Given the description of an element on the screen output the (x, y) to click on. 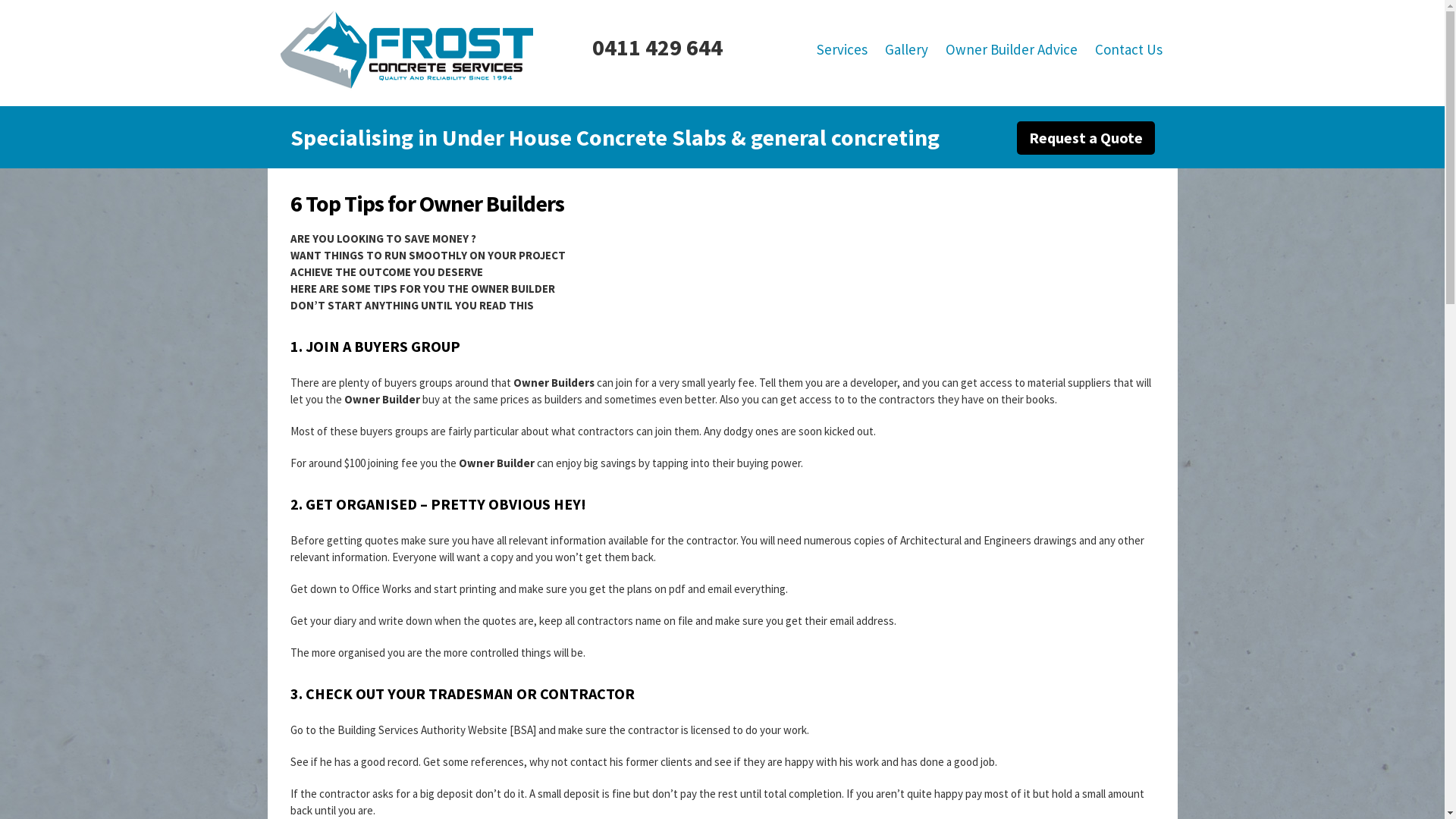
Gallery Element type: text (905, 49)
Request a Quote Element type: text (1085, 137)
Contact Us Element type: text (1128, 49)
Services Element type: text (841, 49)
Owner Builder Advice Element type: text (1010, 49)
